Given the description of an element on the screen output the (x, y) to click on. 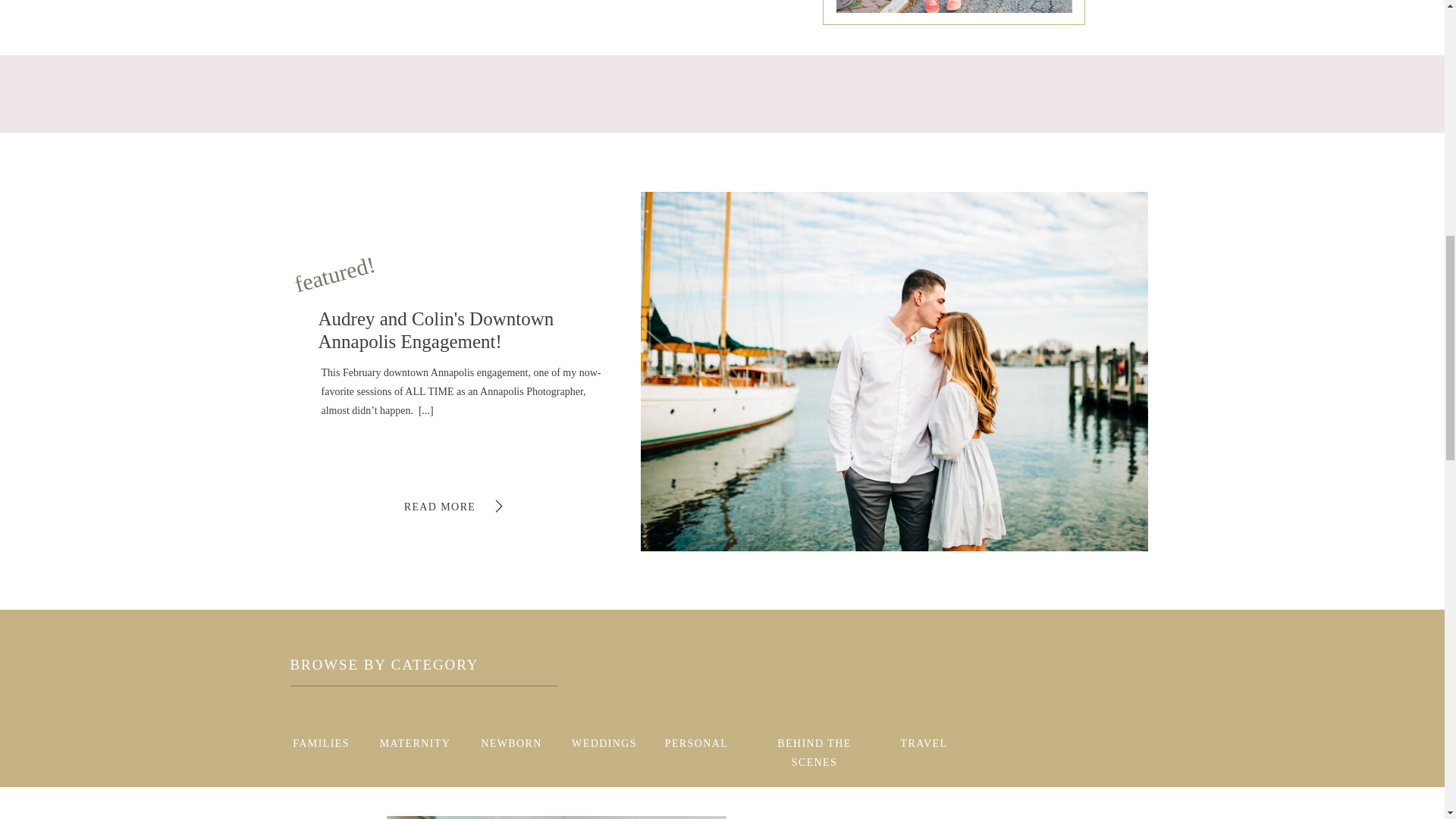
READ MORE (440, 505)
BEHIND THE SCENES (814, 740)
WEDDINGS (604, 740)
FAMILIES (320, 740)
TRAVEL (924, 740)
PERSONAL (695, 740)
Audrey and Colin's Downtown Annapolis Engagement! (465, 318)
MATERNITY (413, 740)
NEWBORN (510, 740)
